Given the description of an element on the screen output the (x, y) to click on. 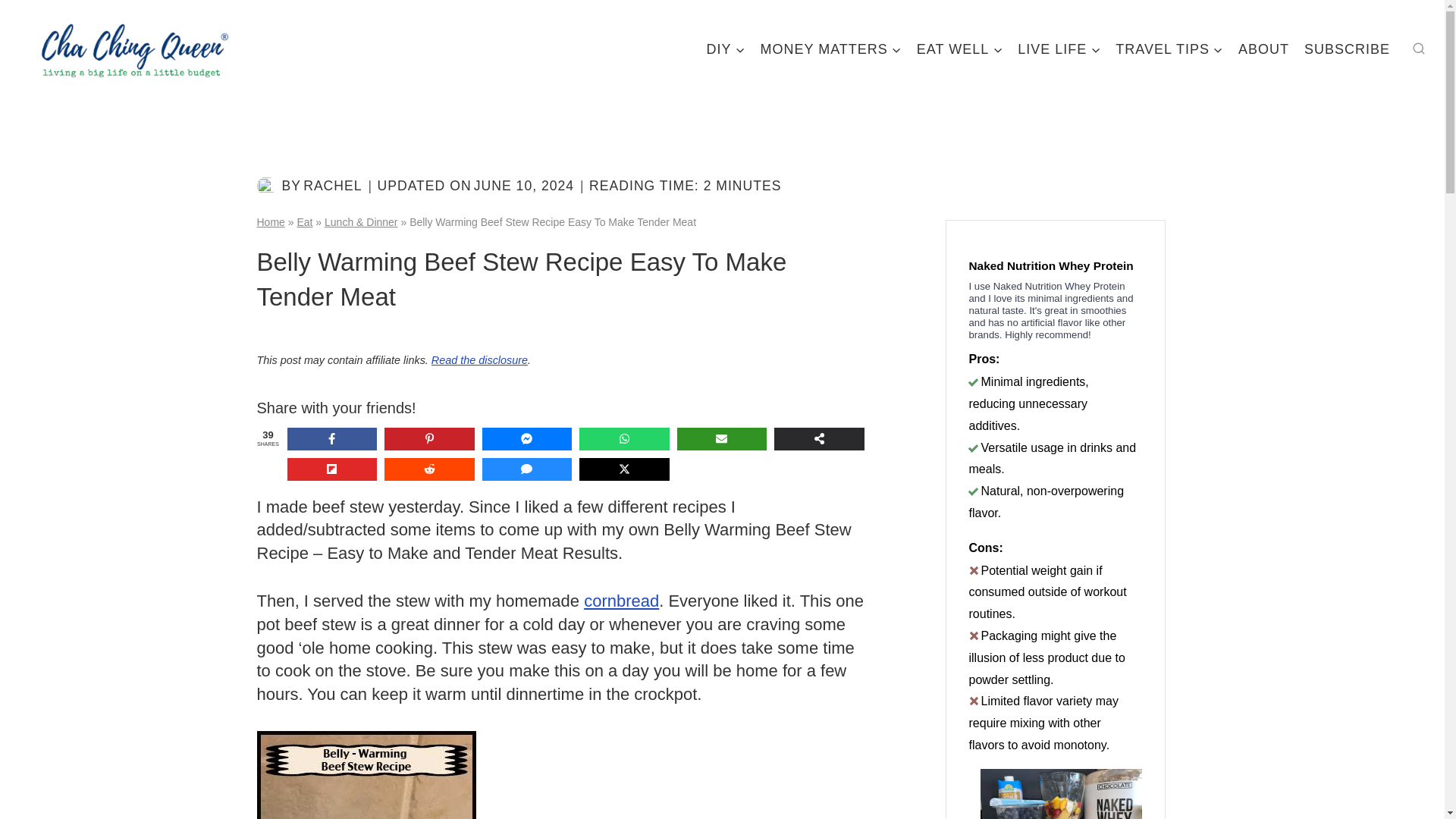
EAT WELL (959, 48)
Eat (305, 222)
MONEY MATTERS (830, 48)
LIVE LIFE (1059, 48)
Home (269, 222)
DIY (725, 48)
Read the disclosure (478, 359)
Naked Nutrition Whey Protein (1055, 261)
SUBSCRIBE (1347, 48)
RACHEL (331, 185)
